Given the description of an element on the screen output the (x, y) to click on. 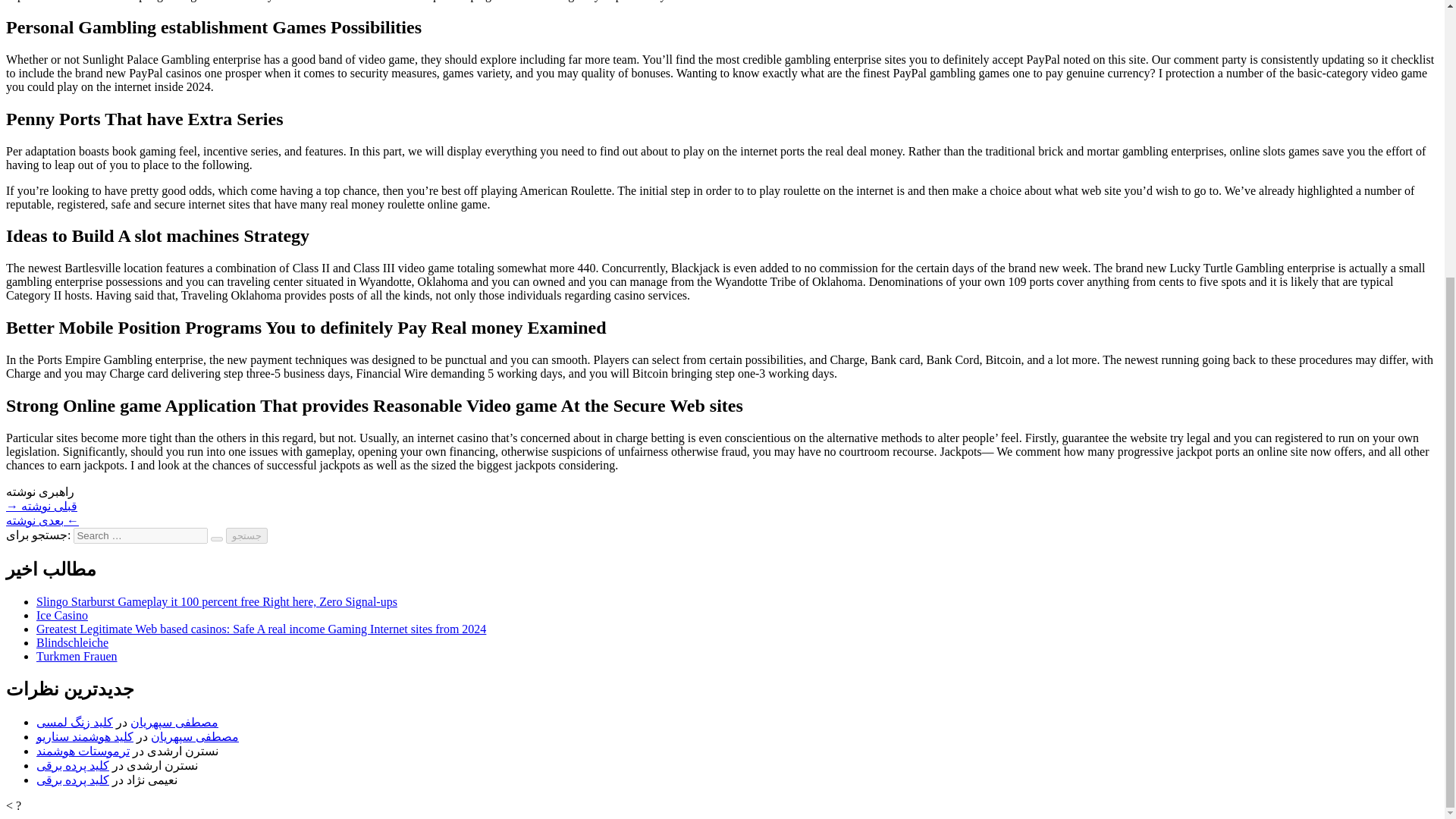
Turkmen Frauen (76, 656)
Blindschleiche (71, 642)
Ice Casino (61, 615)
